Given the description of an element on the screen output the (x, y) to click on. 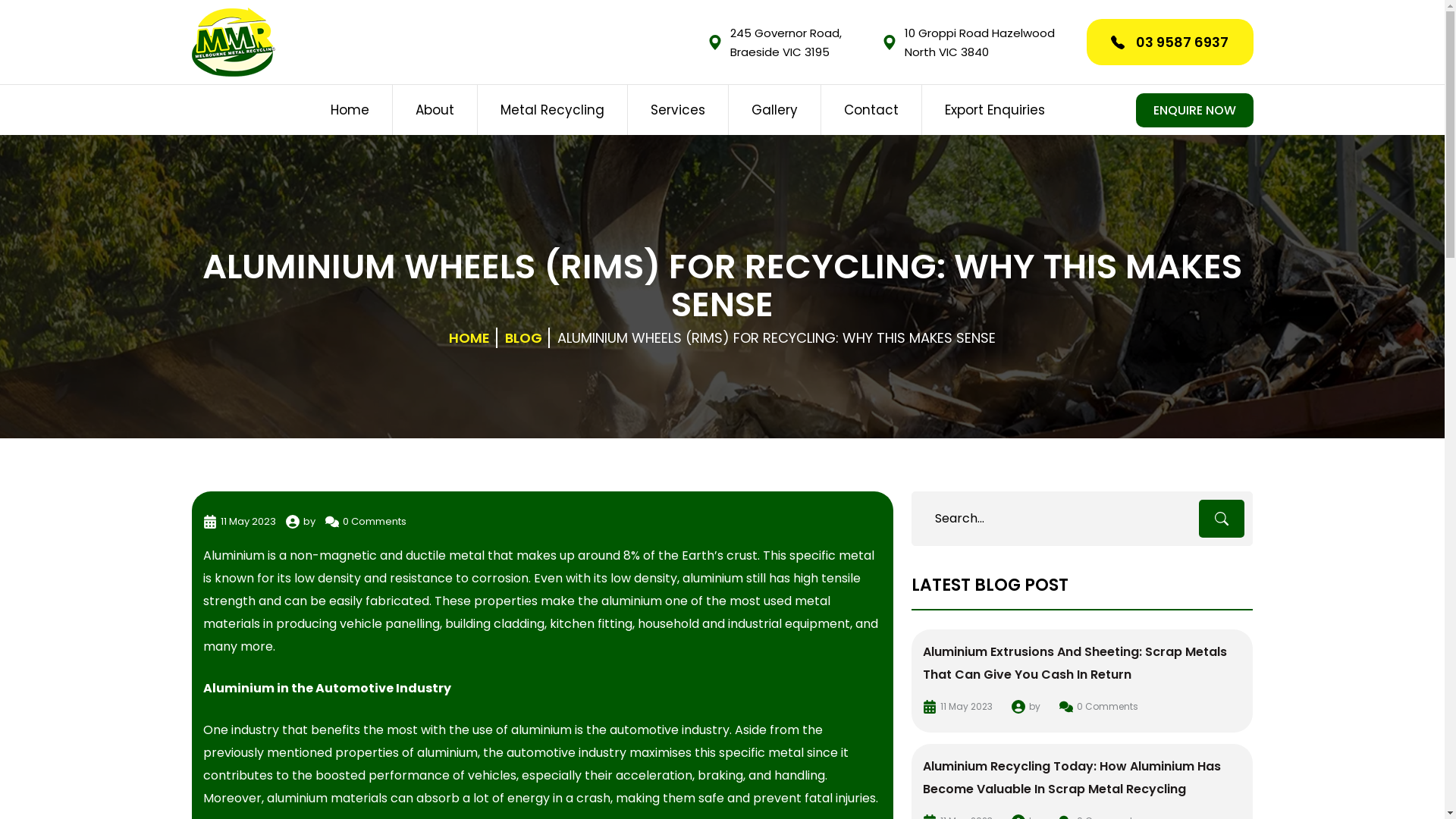
Home Element type: text (349, 109)
HOME Element type: text (468, 337)
03 9587 6937 Element type: text (1168, 41)
Melbourne Metal Recycling Element type: hover (232, 41)
Contact Element type: text (870, 109)
ENQUIRE NOW Element type: text (1194, 109)
Gallery Element type: text (773, 109)
Metal Recycling Element type: text (552, 109)
Export Enquiries Element type: text (994, 109)
BLOG Element type: text (523, 337)
About Element type: text (434, 109)
Services Element type: text (677, 109)
